Given the description of an element on the screen output the (x, y) to click on. 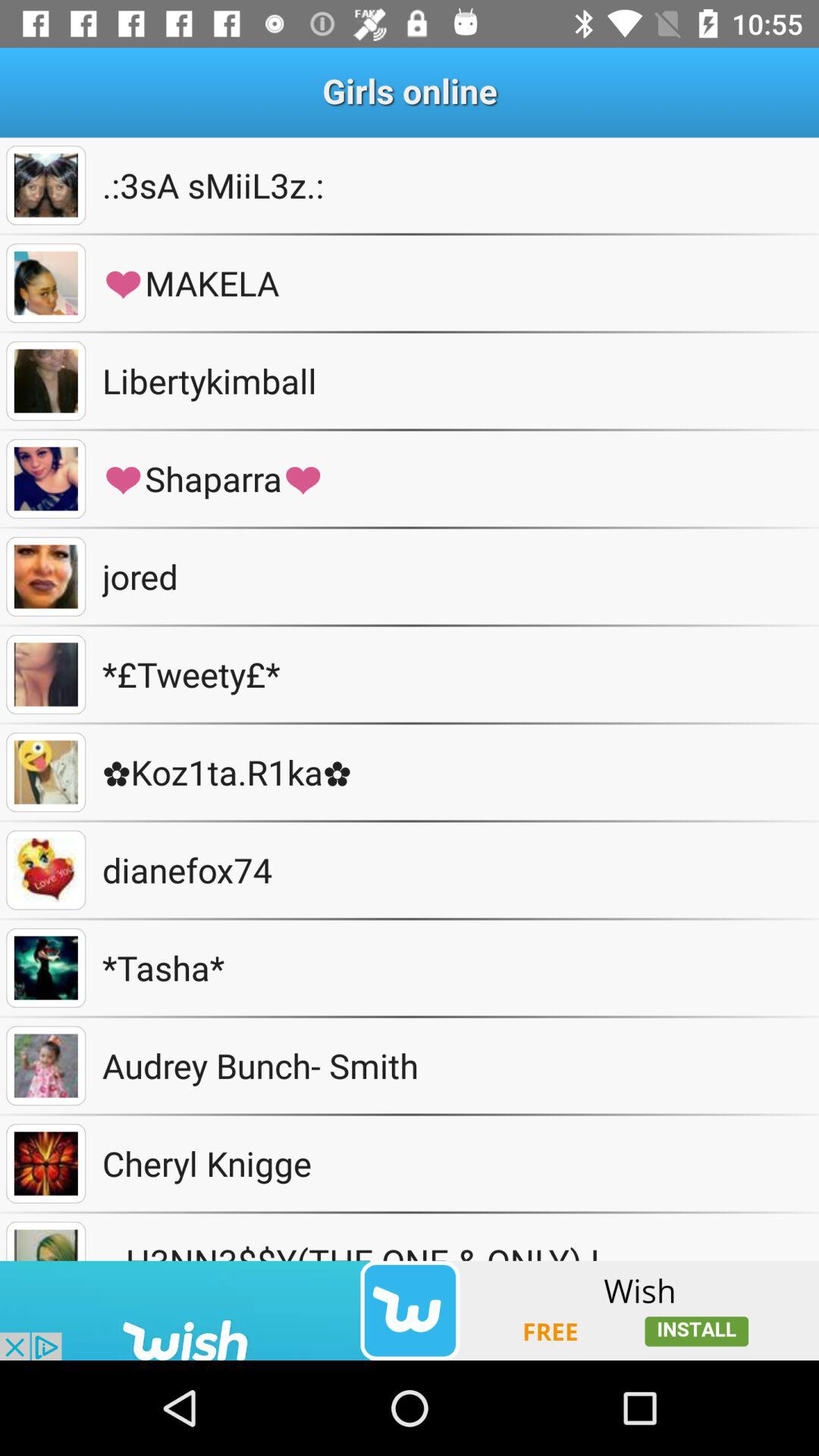
view selected photo (45, 380)
